Given the description of an element on the screen output the (x, y) to click on. 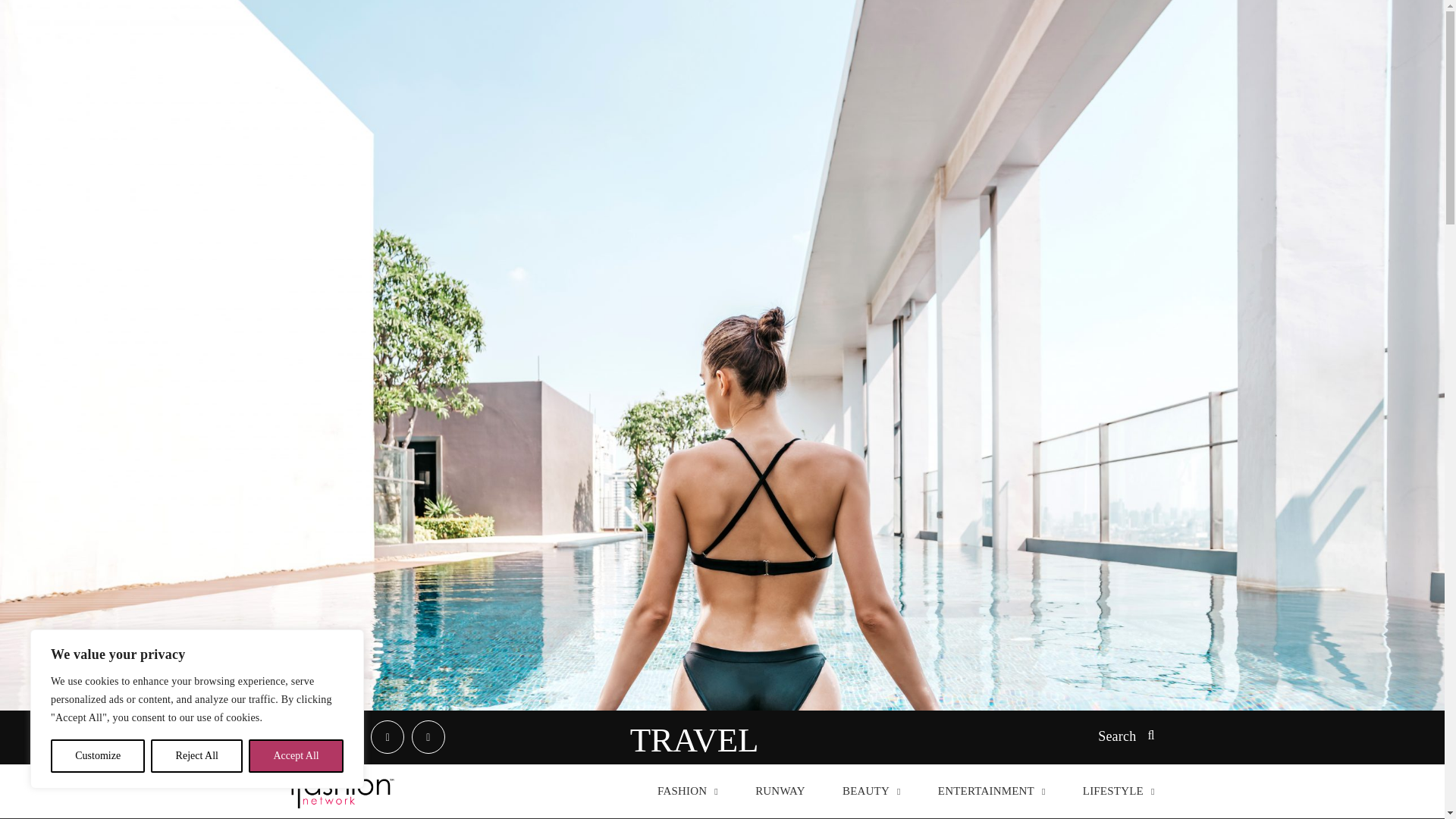
Katharine (342, 791)
ENTERTAINMENT (991, 789)
BEAUTY (872, 789)
FASHION (687, 789)
Accept All (295, 756)
iFashion Network (342, 791)
LIFESTYLE (1118, 789)
Customize (97, 756)
RUNWAY (780, 789)
Search (1125, 737)
Reject All (197, 756)
